Given the description of an element on the screen output the (x, y) to click on. 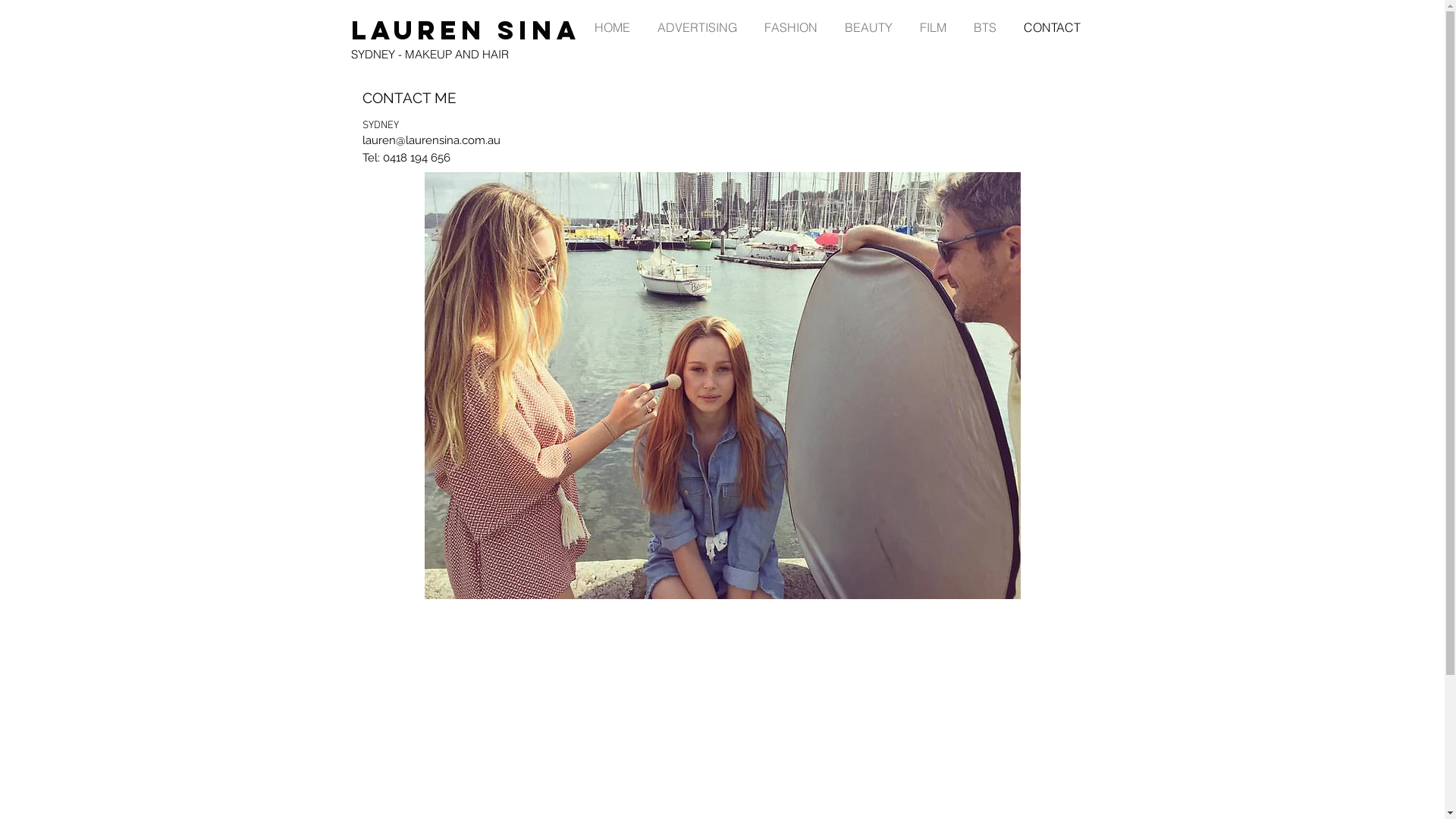
ADVERTISING Element type: text (696, 27)
lauren@laurensina.com.au Element type: text (431, 140)
HOME Element type: text (611, 27)
FILM Element type: text (932, 27)
FASHION Element type: text (790, 27)
BEAUTY Element type: text (868, 27)
CONTACT Element type: text (1052, 27)
BTS Element type: text (985, 27)
LAUREN SINA Element type: text (465, 29)
SYDNEY - MAKEUP AND HAIR Element type: text (429, 55)
